Given the description of an element on the screen output the (x, y) to click on. 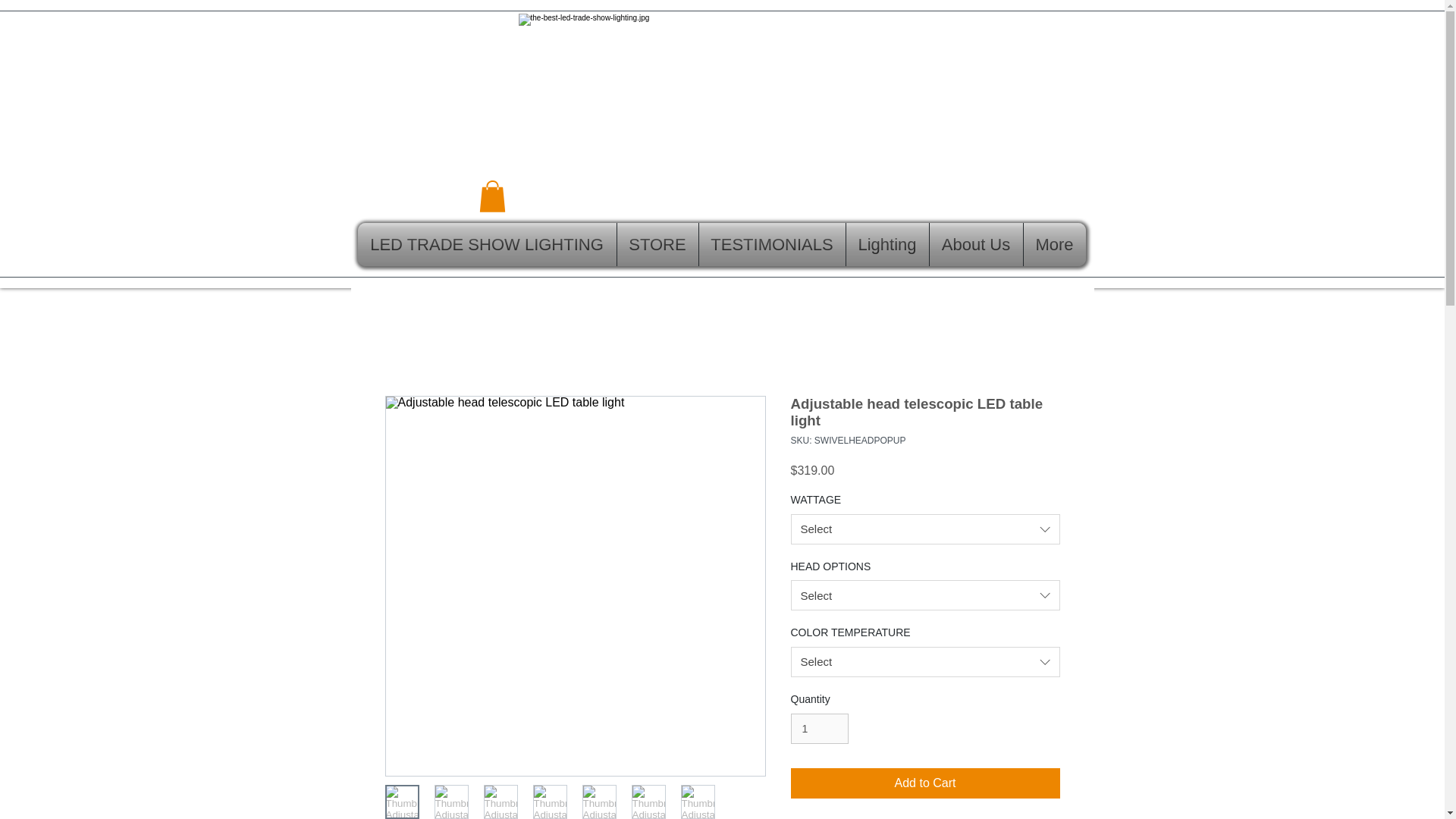
About Us (976, 244)
LED TRADE SHOW LIGHTING (486, 244)
Lighting (886, 244)
STORE (657, 244)
Select (924, 529)
TESTIMONIALS (771, 244)
Select (924, 594)
Add to Cart (924, 783)
1 (818, 728)
Select (924, 662)
